Given the description of an element on the screen output the (x, y) to click on. 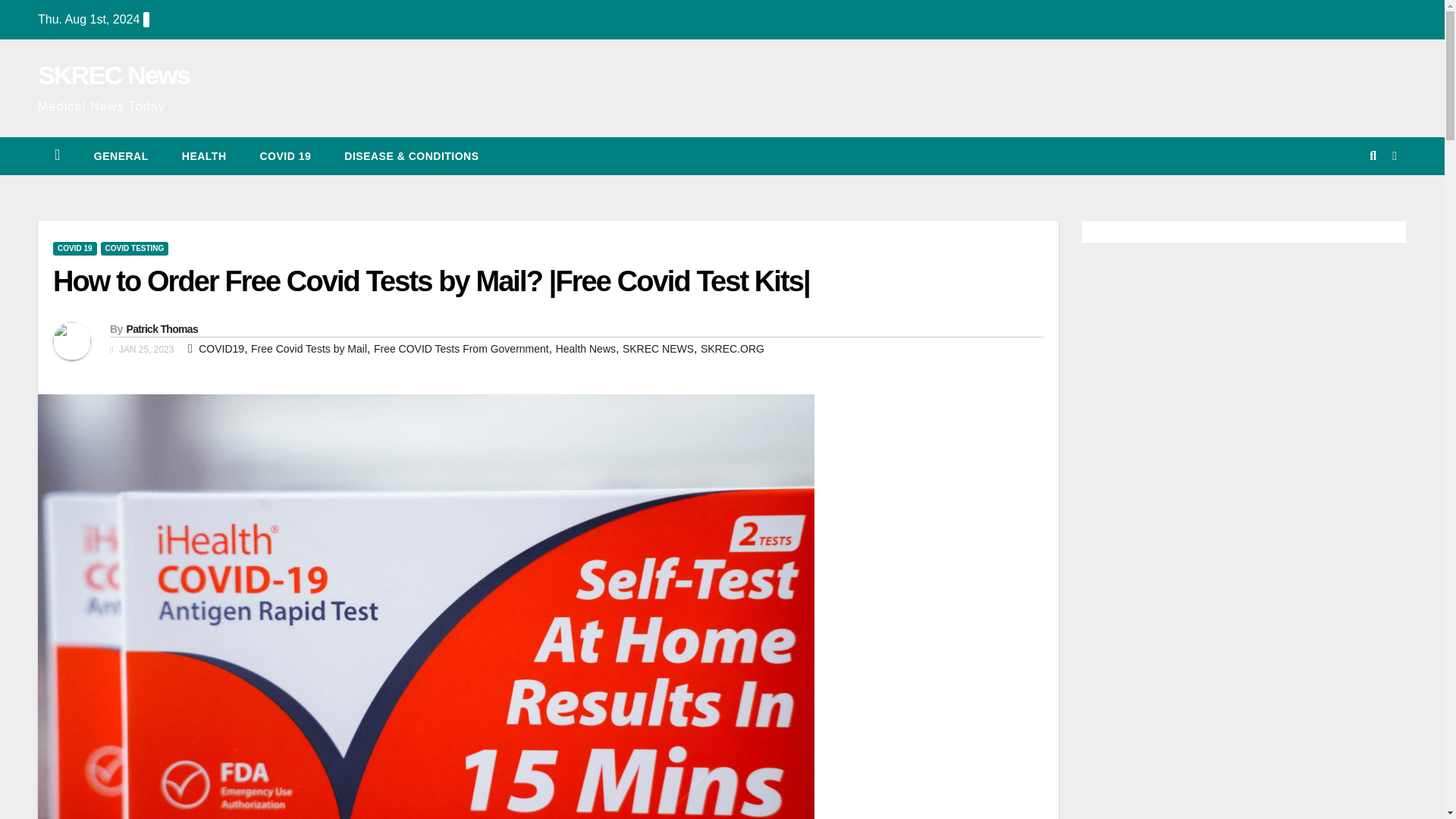
SKREC.ORG (732, 348)
COVID19 (221, 348)
COVID TESTING (134, 248)
General (121, 156)
COVID 19 (74, 248)
Patrick Thomas (160, 328)
Health (204, 156)
Free COVID Tests From Government (461, 348)
Free Covid Tests by Mail (308, 348)
COVID 19 (285, 156)
Health News (585, 348)
GENERAL (121, 156)
HEALTH (204, 156)
Covid 19 (285, 156)
SKREC News (113, 74)
